Given the description of an element on the screen output the (x, y) to click on. 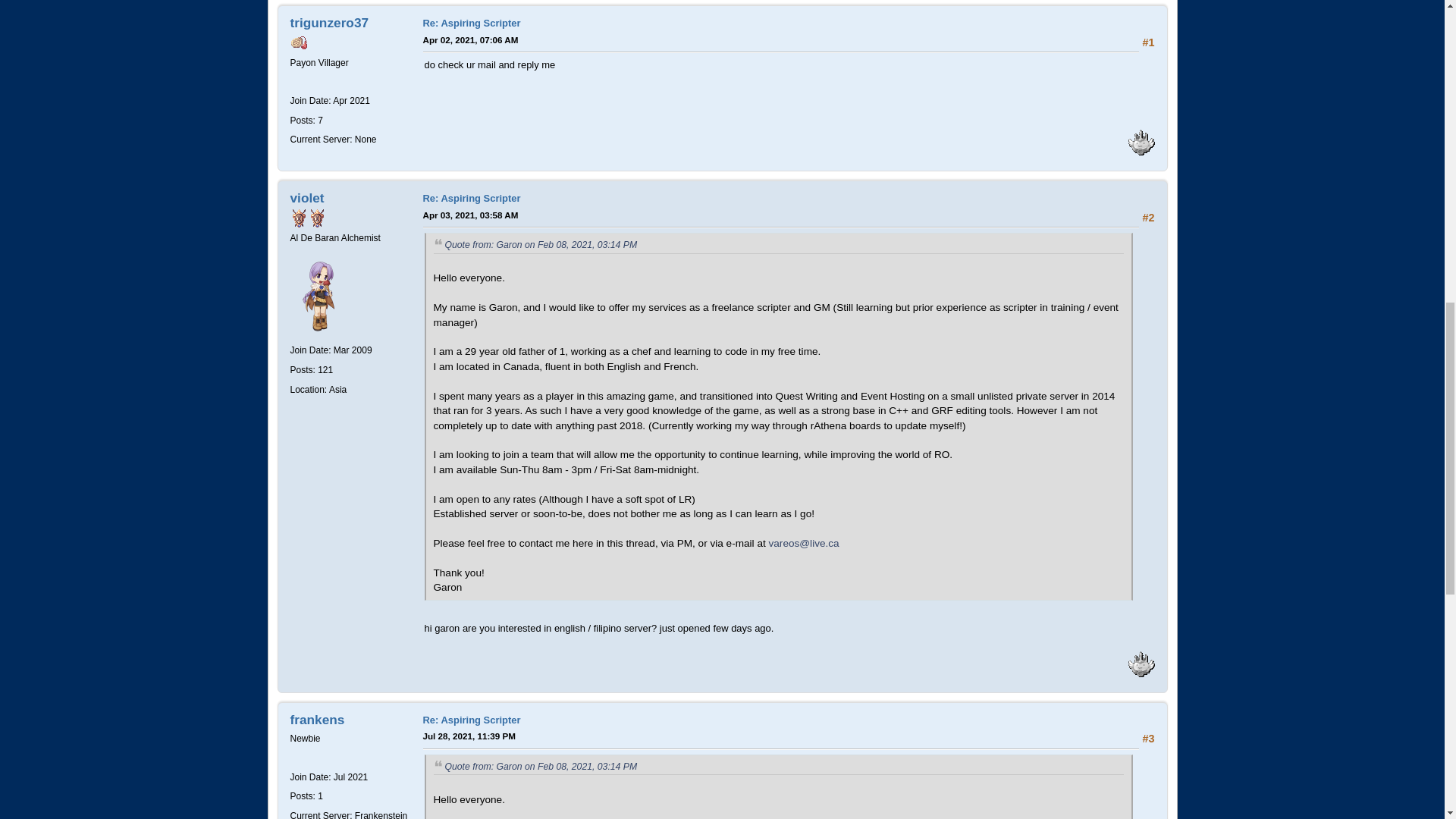
trigunzero37 (328, 22)
Quote from: Garon on Feb 08, 2021, 03:14 PM (540, 244)
View the profile of trigunzero37 (328, 22)
Apr 03, 2021, 03:58 AM (470, 214)
View the profile of violet (306, 197)
Re: Aspiring Scripter (472, 197)
Re: Aspiring Scripter (472, 22)
Apr 02, 2021, 07:06 AM (470, 39)
violet (306, 197)
View the profile of frankens (316, 719)
frankens (316, 719)
